Given the description of an element on the screen output the (x, y) to click on. 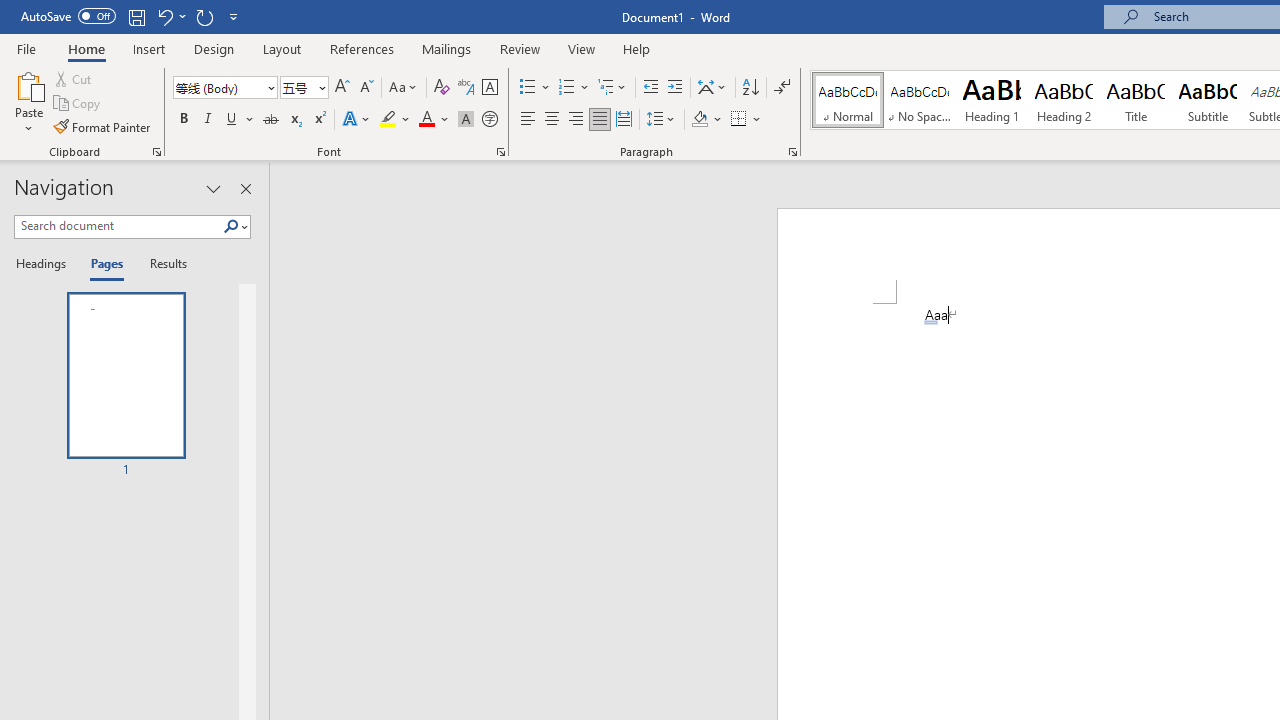
Shading RGB(0, 0, 0) (699, 119)
Asian Layout (712, 87)
Bullets (535, 87)
Review (520, 48)
Mailings (447, 48)
Numbering (573, 87)
Line and Paragraph Spacing (661, 119)
Font... (500, 151)
Text Highlight Color Yellow (388, 119)
Sort... (750, 87)
References (362, 48)
Headings (45, 264)
Enclose Characters... (489, 119)
Search (235, 227)
